Given the description of an element on the screen output the (x, y) to click on. 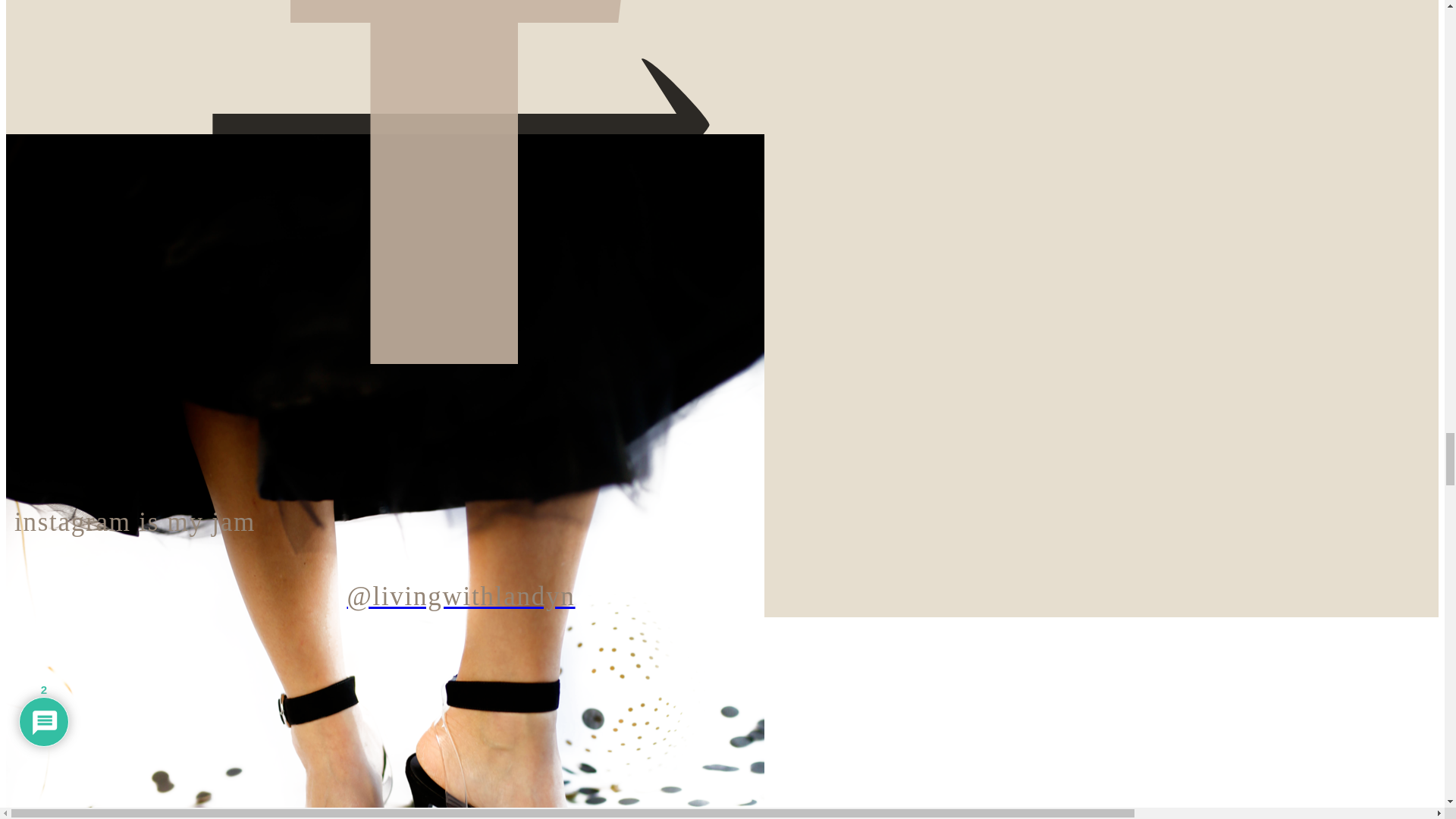
NYE Shoes (460, 352)
arrow (248, 52)
